Given the description of an element on the screen output the (x, y) to click on. 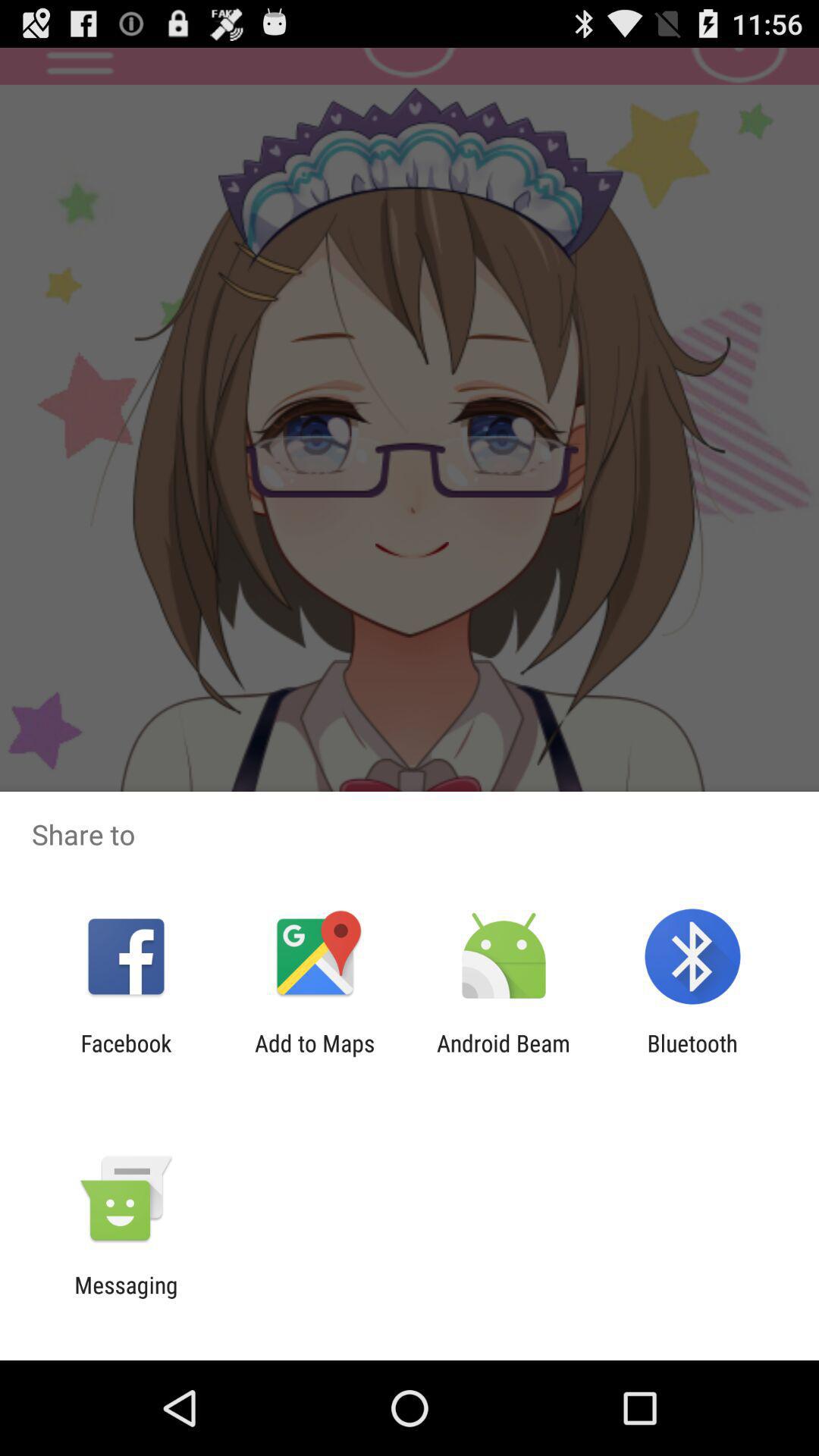
turn on item to the right of facebook app (314, 1056)
